Given the description of an element on the screen output the (x, y) to click on. 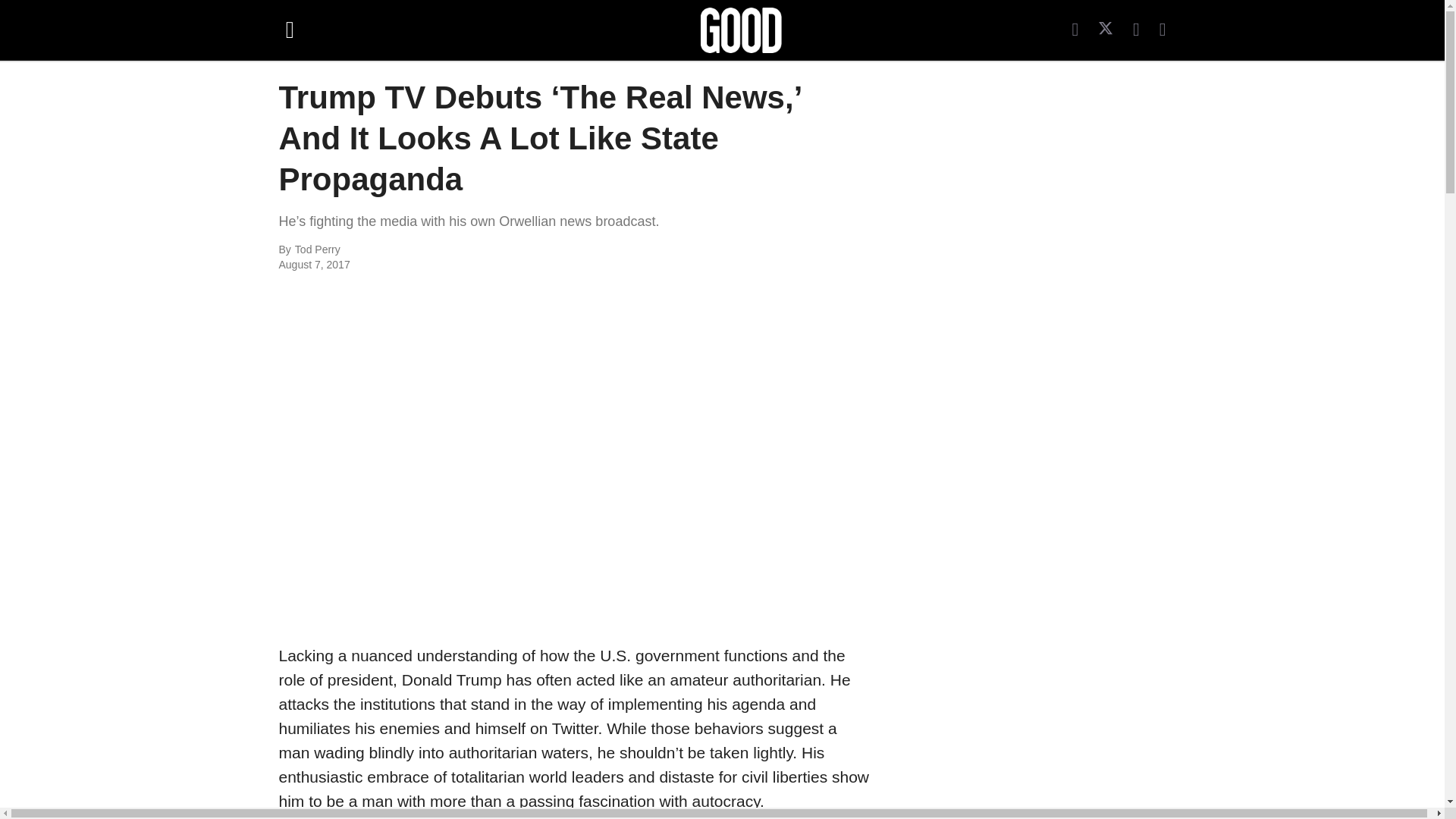
Tod Perry (459, 249)
